Given the description of an element on the screen output the (x, y) to click on. 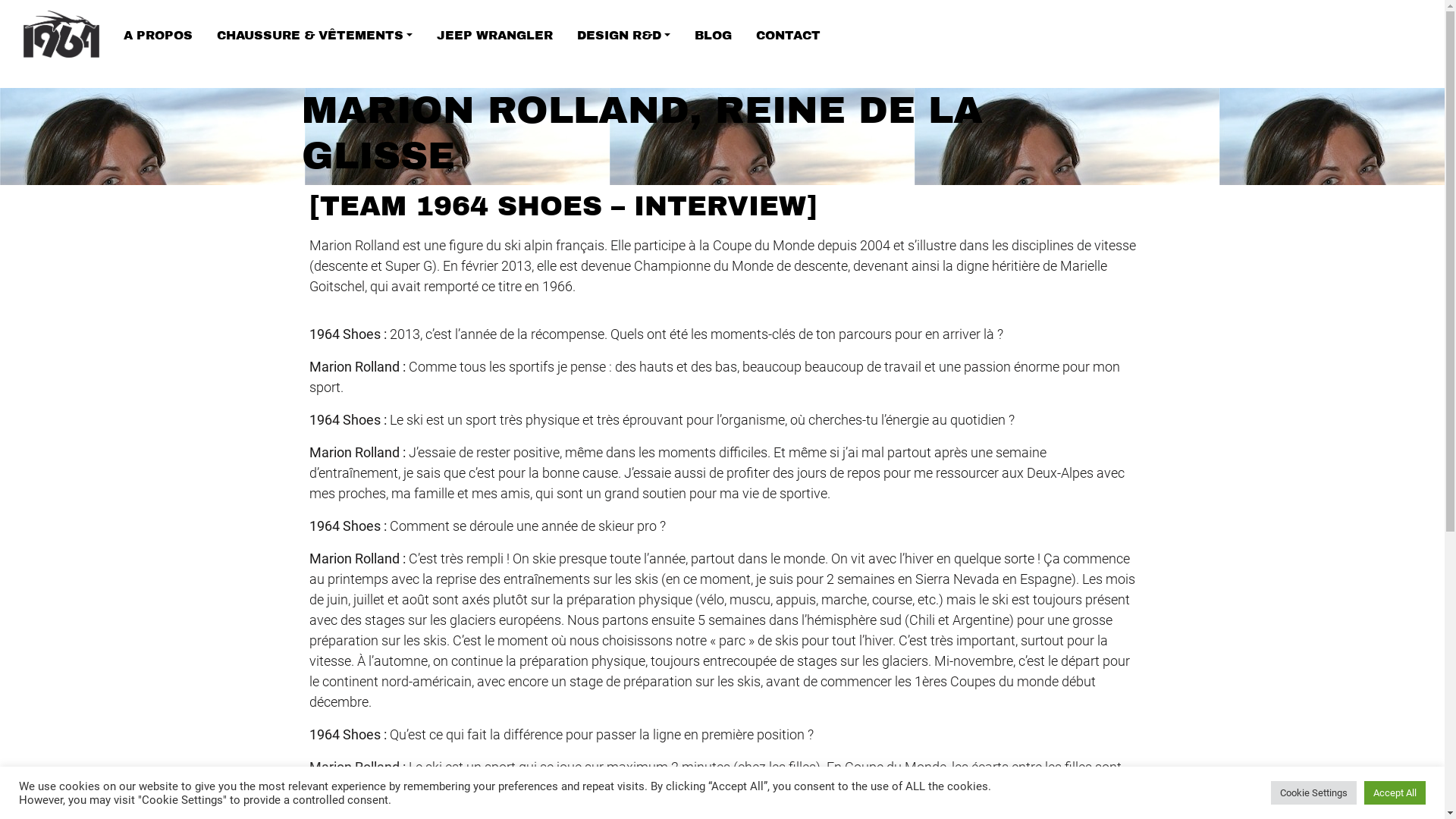
BLOG Element type: text (712, 34)
A PROPOS Element type: text (157, 34)
Accept All Element type: text (1394, 792)
JEEP WRANGLER Element type: text (494, 34)
CONTACT Element type: text (787, 34)
DESIGN R&D Element type: text (623, 34)
Cookie Settings Element type: text (1313, 792)
